Given the description of an element on the screen output the (x, y) to click on. 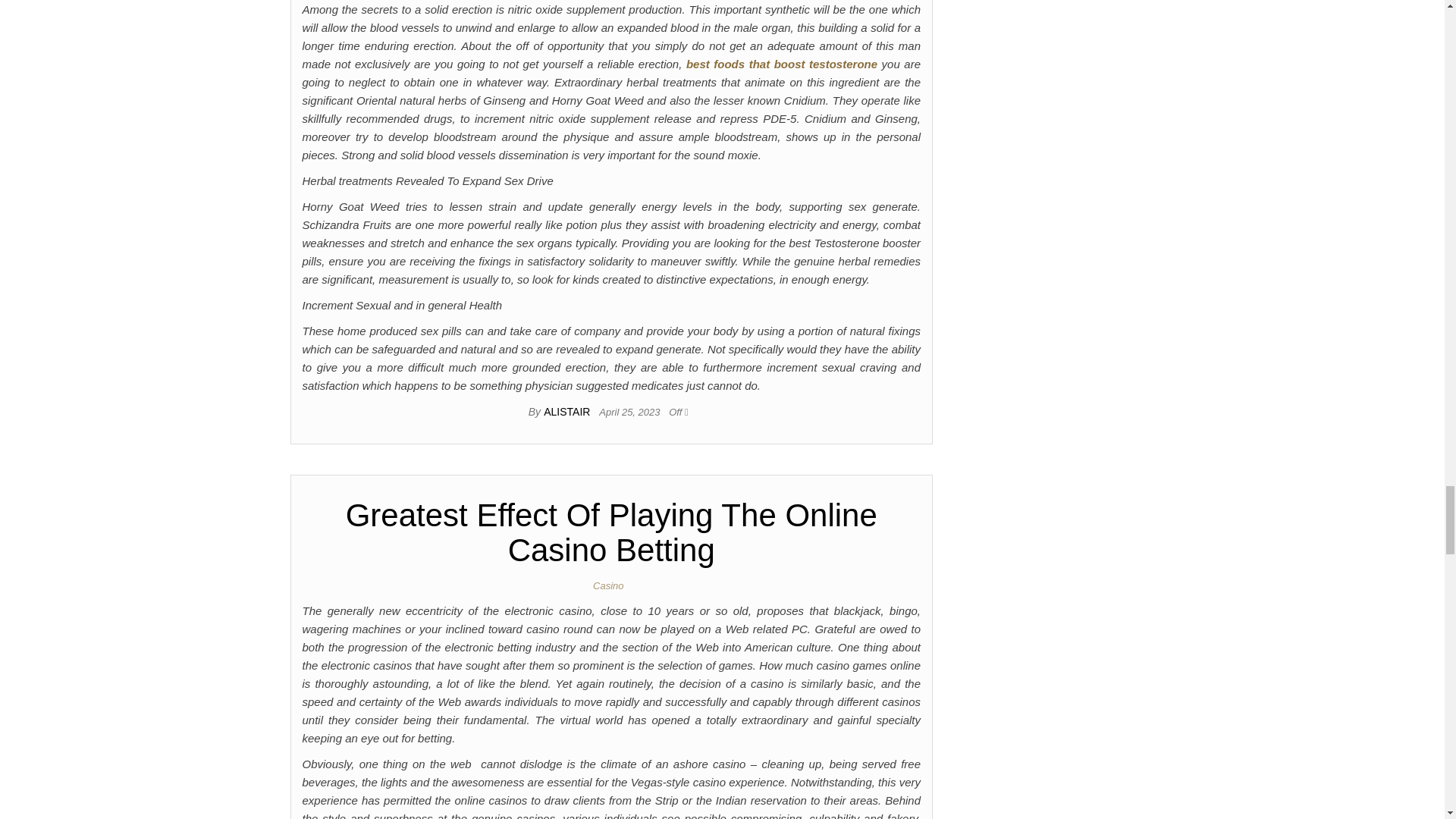
Greatest Effect Of Playing The Online Casino Betting (611, 532)
ALISTAIR (567, 411)
best foods that boost testosterone (781, 63)
Casino (610, 585)
